Given the description of an element on the screen output the (x, y) to click on. 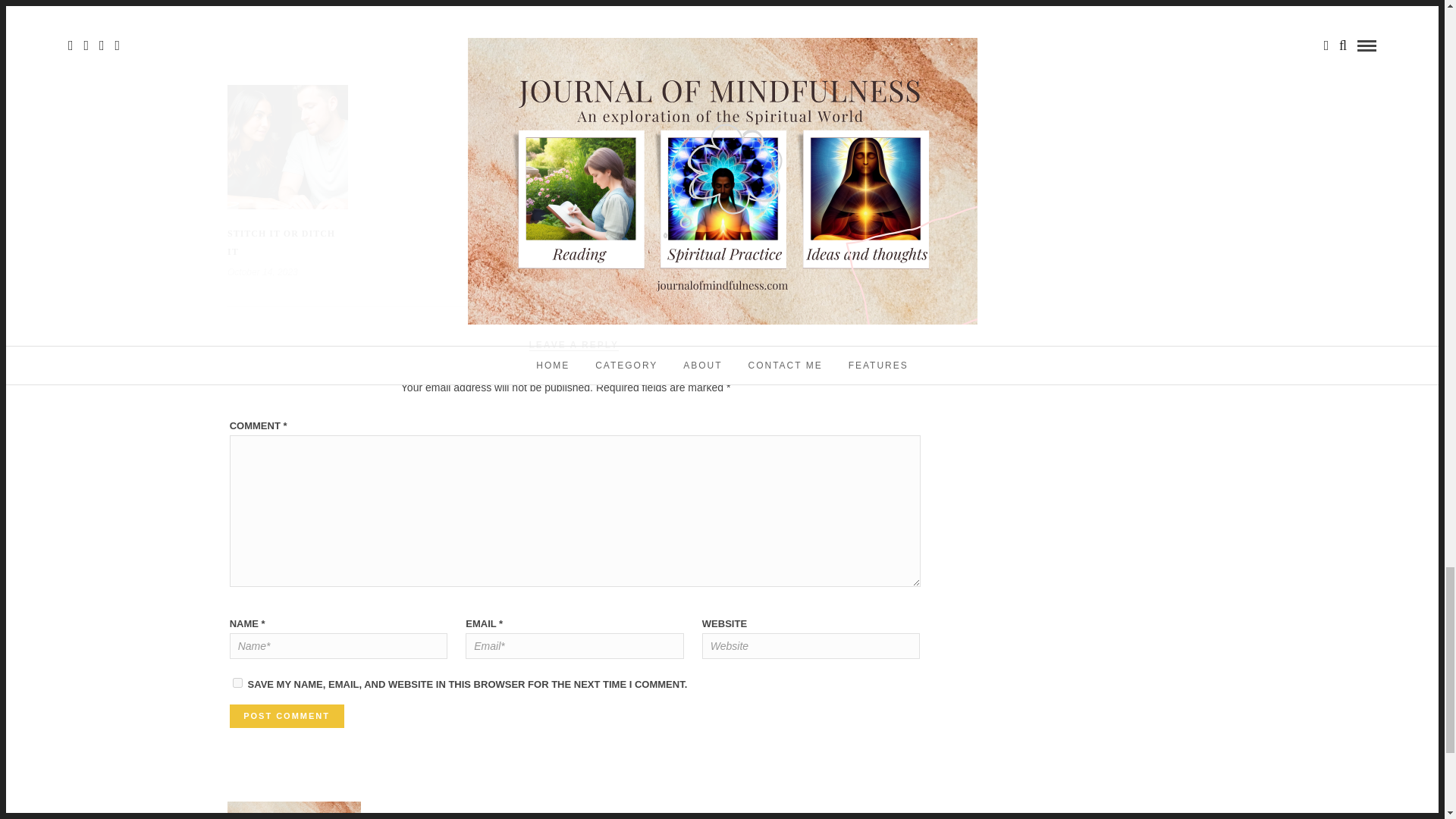
Stitch it or Ditch it (280, 242)
STITCH IT OR DITCH IT (280, 242)
yes (237, 682)
Post Comment (286, 716)
